Given the description of an element on the screen output the (x, y) to click on. 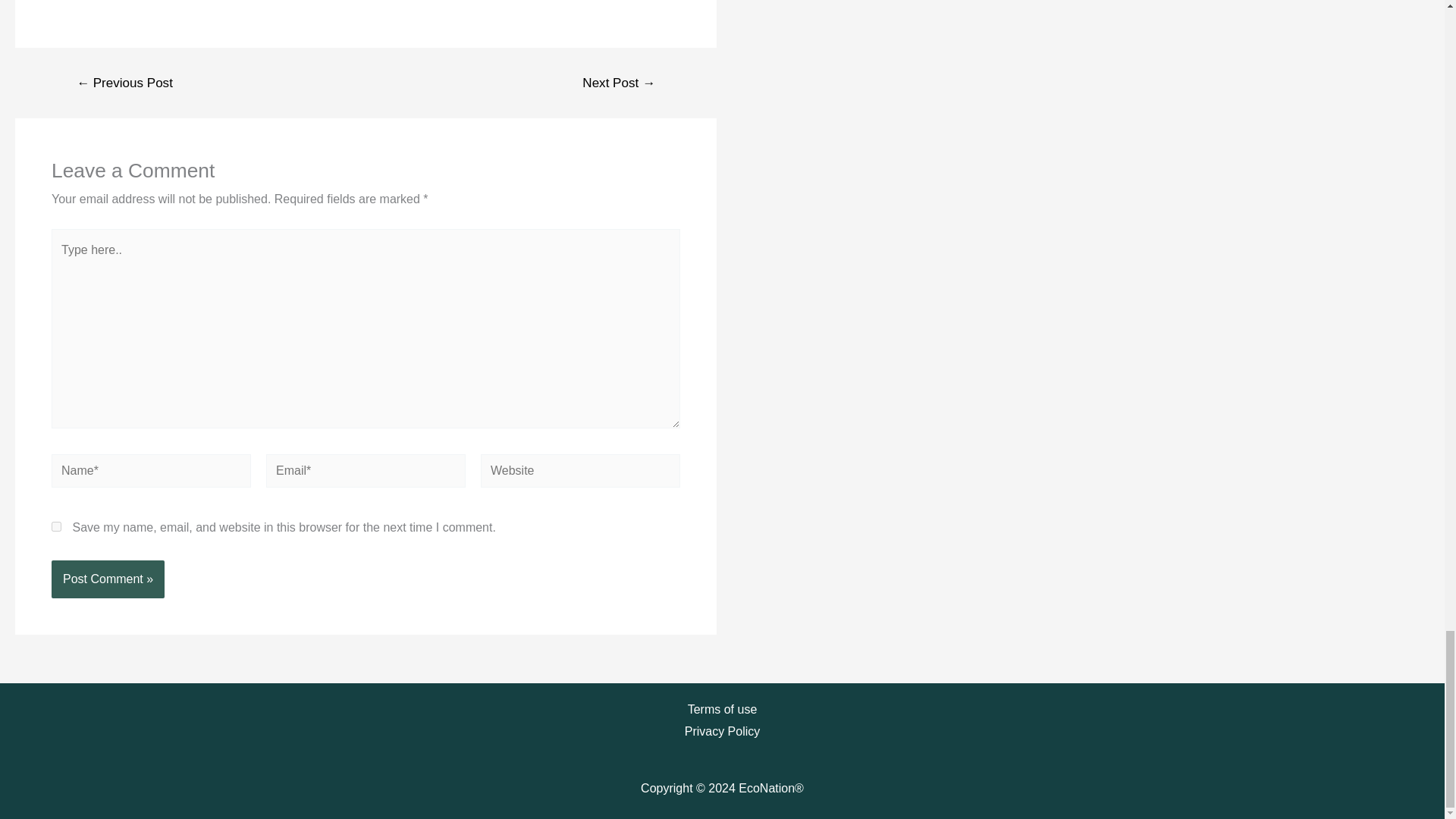
yes (55, 526)
